Given the description of an element on the screen output the (x, y) to click on. 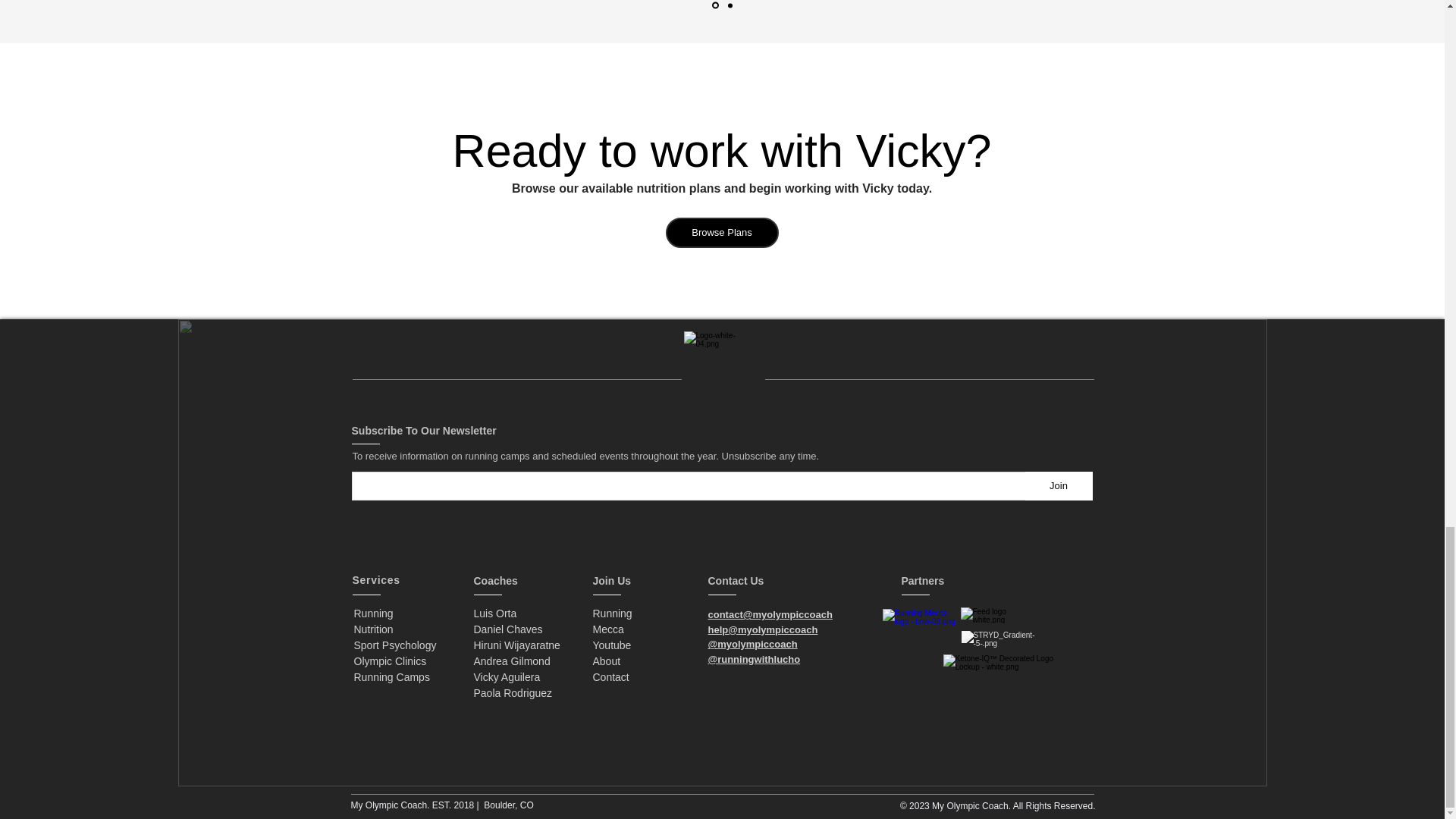
Browse Plans (516, 637)
Running Camps (721, 232)
Nutrition (391, 676)
Sport Psychology (373, 629)
Running (394, 645)
Luis Orta (373, 613)
Join (494, 613)
Olympic Clinics (1059, 485)
